Given the description of an element on the screen output the (x, y) to click on. 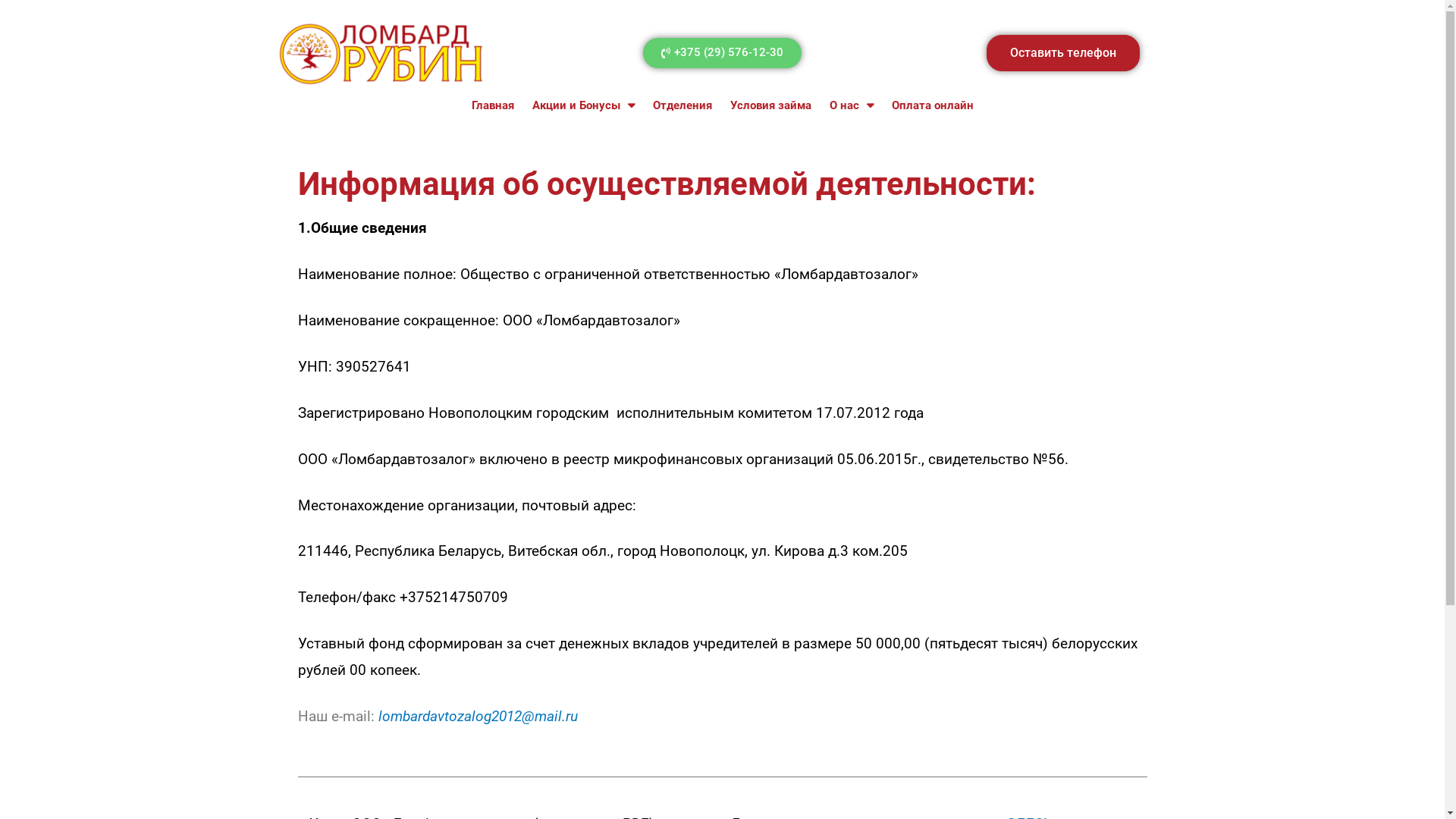
lombardavtozalog2012@mail.ru Element type: text (477, 716)
+375 (29) 576-12-30 Element type: text (722, 52)
